Given the description of an element on the screen output the (x, y) to click on. 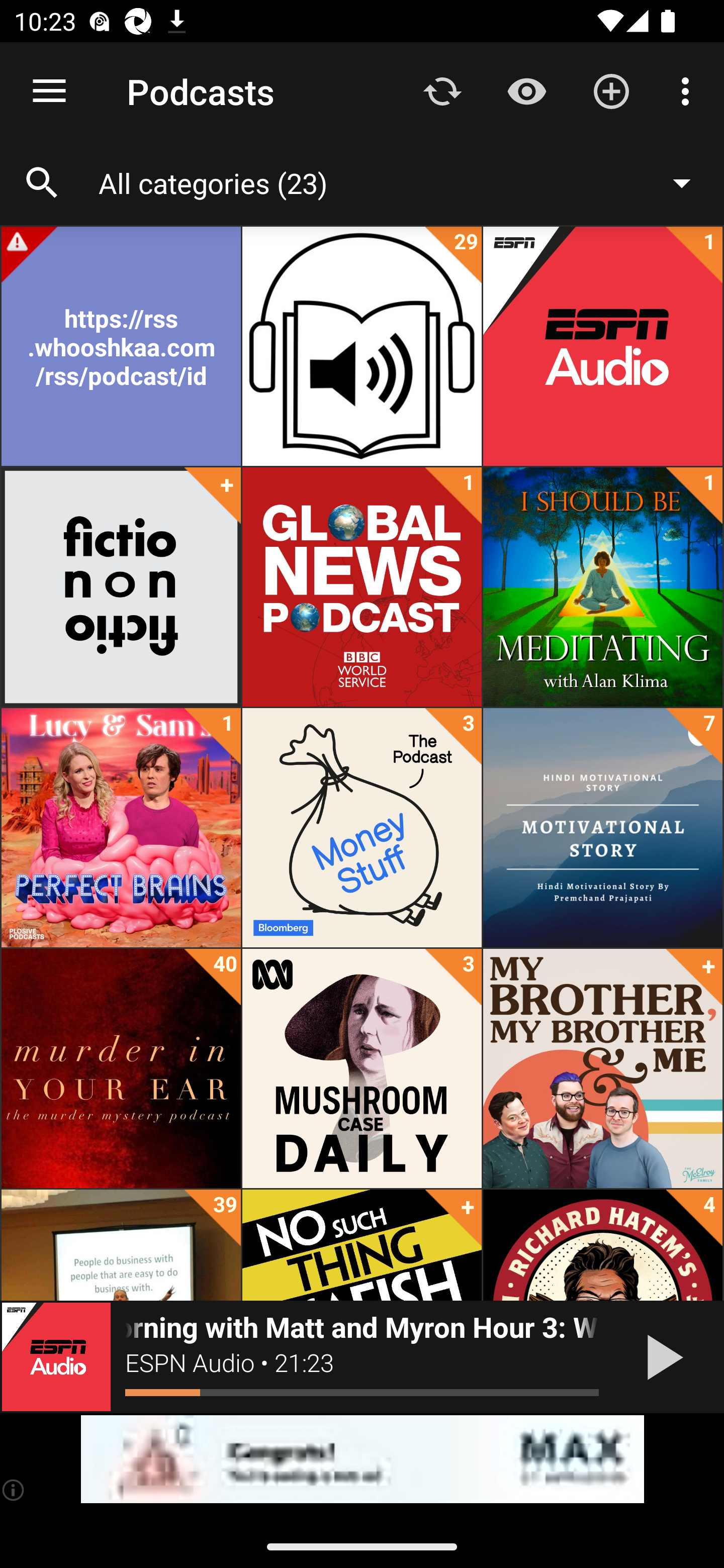
Open navigation sidebar (49, 91)
Update (442, 90)
Show / Hide played content (526, 90)
Add new Podcast (611, 90)
More options (688, 90)
Search (42, 183)
All categories (23) (404, 182)
https://rss.whooshkaa.com/rss/podcast/id/5884 (121, 346)
Audiobooks 29 (361, 346)
ESPN Audio 1 (602, 346)
fiction/non/fiction + (121, 587)
Global News Podcast 1 (361, 587)
Lucy & Sam's Perfect Brains 1 (121, 827)
Money Stuff: The Podcast 3 (361, 827)
Murder In Your Ear-The Murder Mystery Podcast 40 (121, 1068)
Mushroom Case Daily 3 (361, 1068)
My Brother, My Brother And Me + (602, 1068)
Play / Pause (660, 1356)
app-monetization (362, 1459)
(i) (14, 1489)
